Given the description of an element on the screen output the (x, y) to click on. 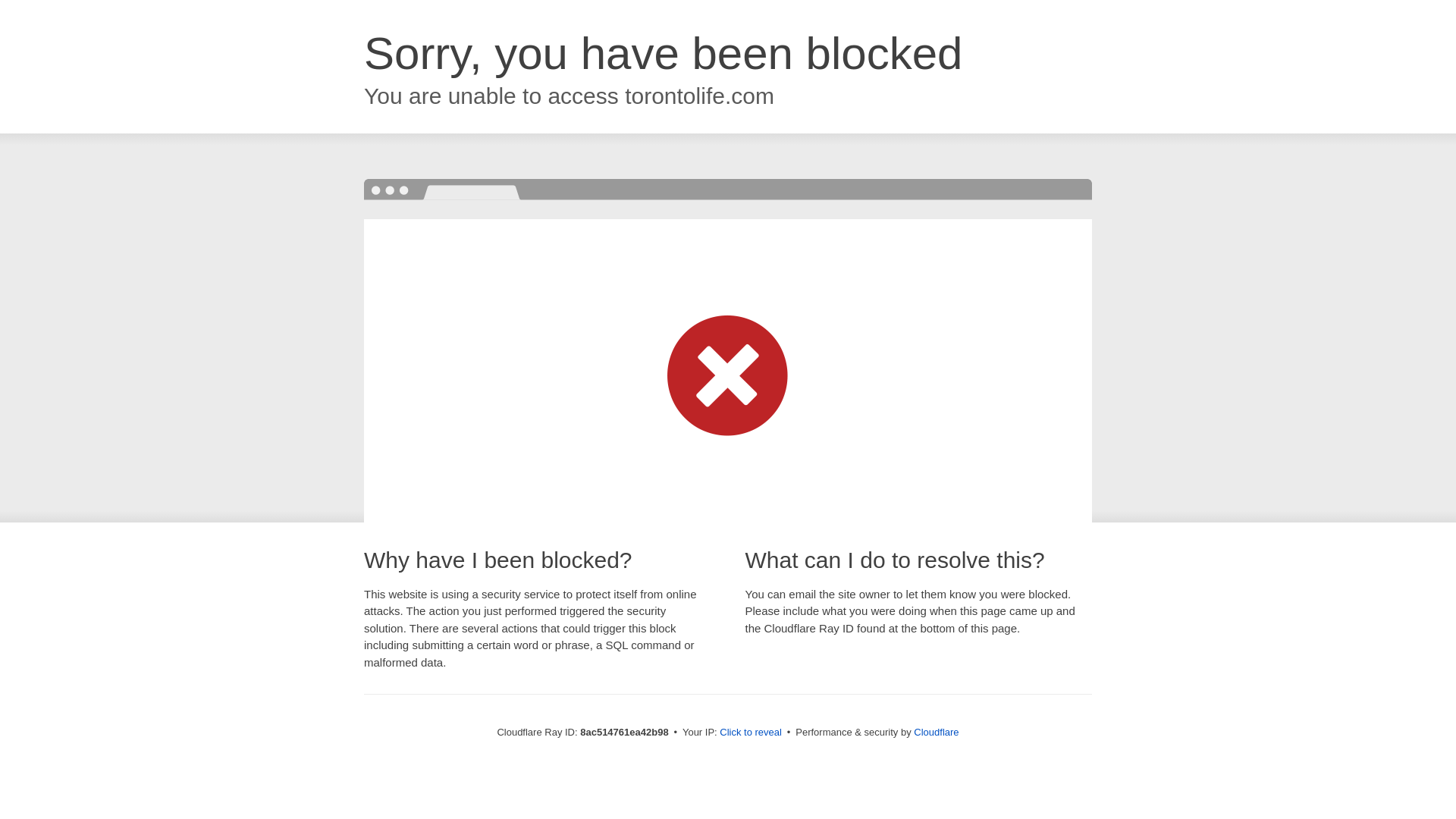
Click to reveal (750, 732)
Cloudflare (936, 731)
